Given the description of an element on the screen output the (x, y) to click on. 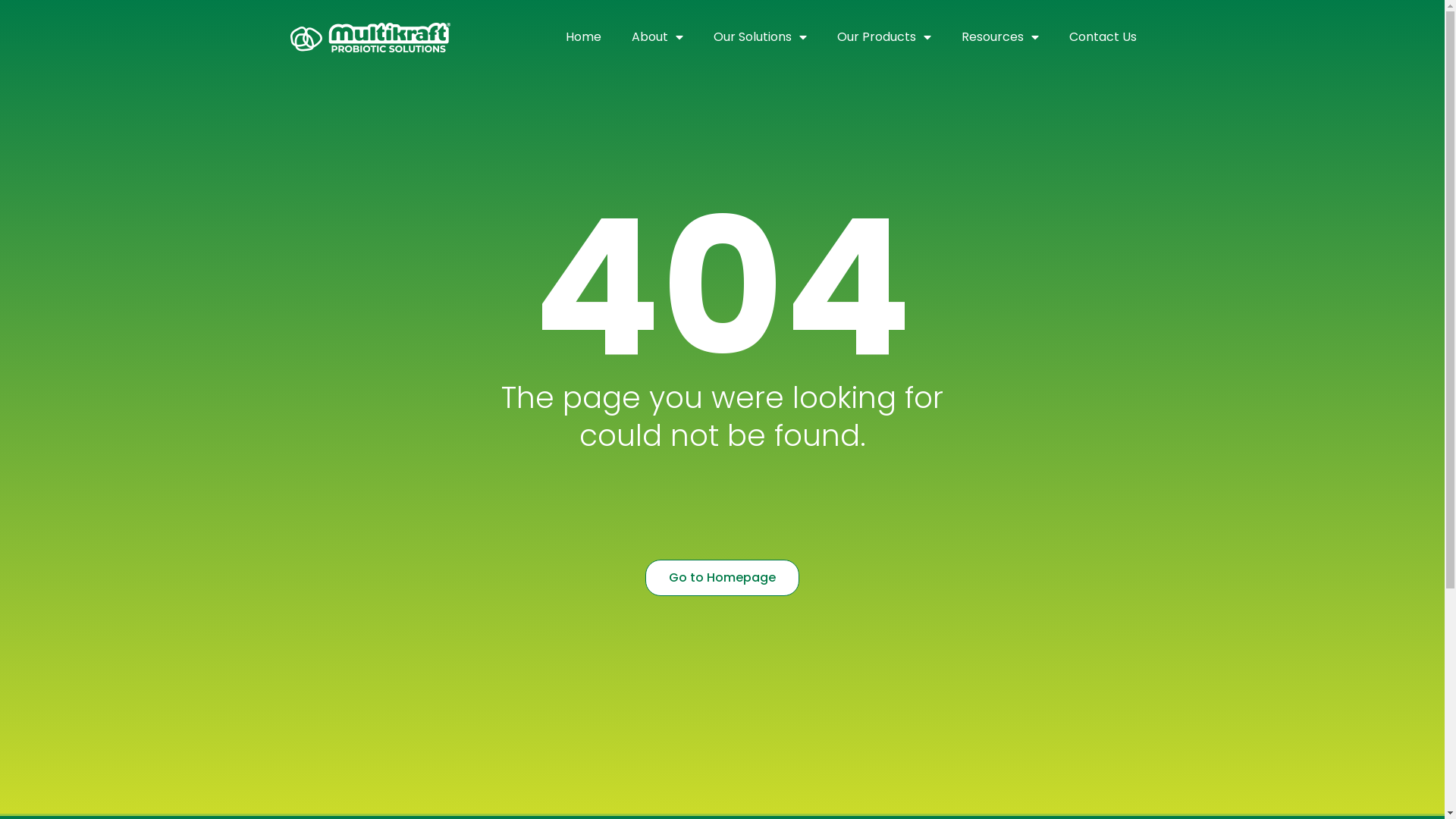
Our Products Element type: text (884, 36)
About Element type: text (657, 36)
Contact Us Element type: text (1102, 36)
Go to Homepage Element type: text (722, 577)
Resources Element type: text (1000, 36)
Our Solutions Element type: text (760, 36)
Home Element type: text (583, 36)
